Given the description of an element on the screen output the (x, y) to click on. 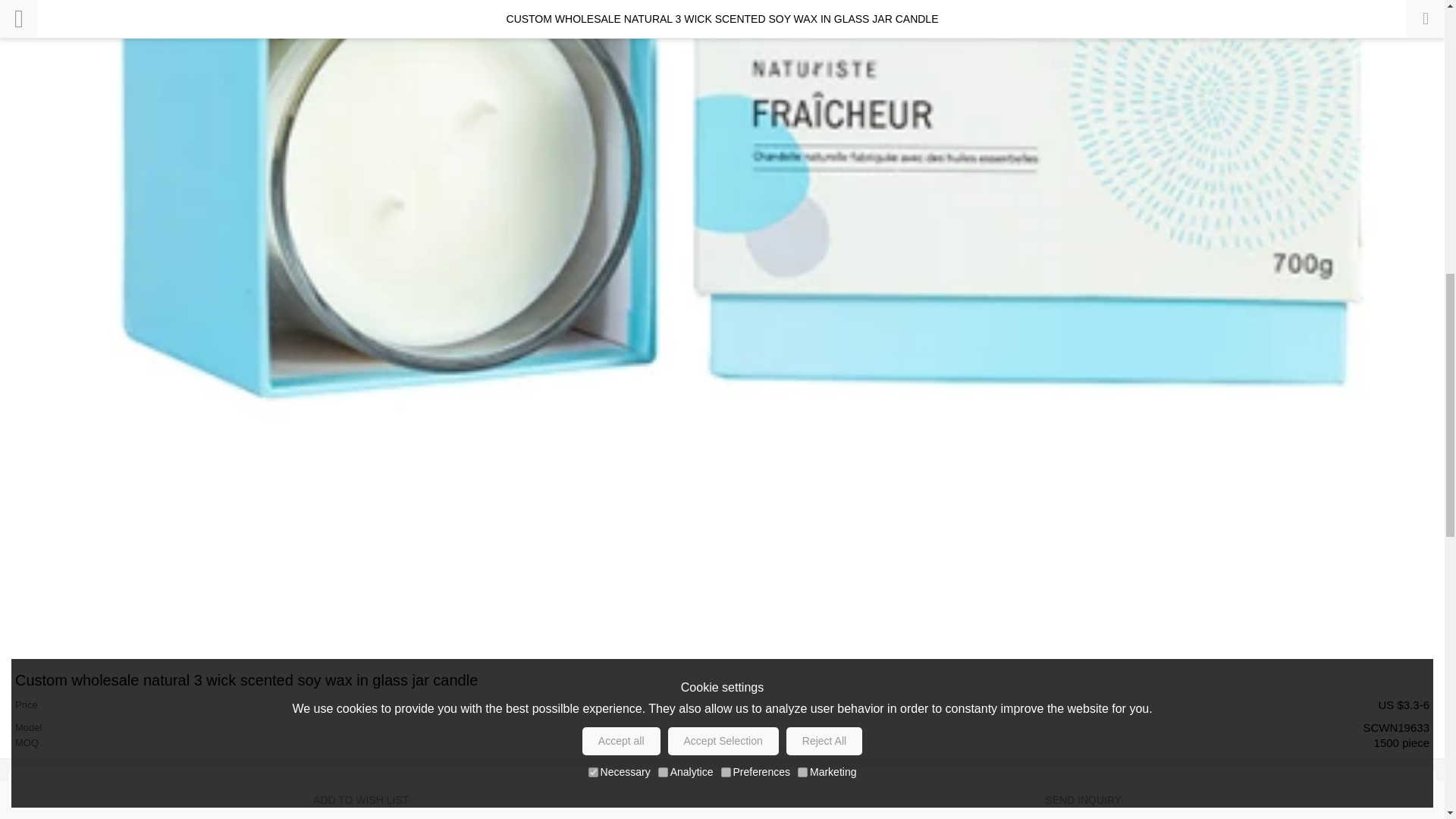
Review (1409, 789)
MORE (1409, 789)
